Given the description of an element on the screen output the (x, y) to click on. 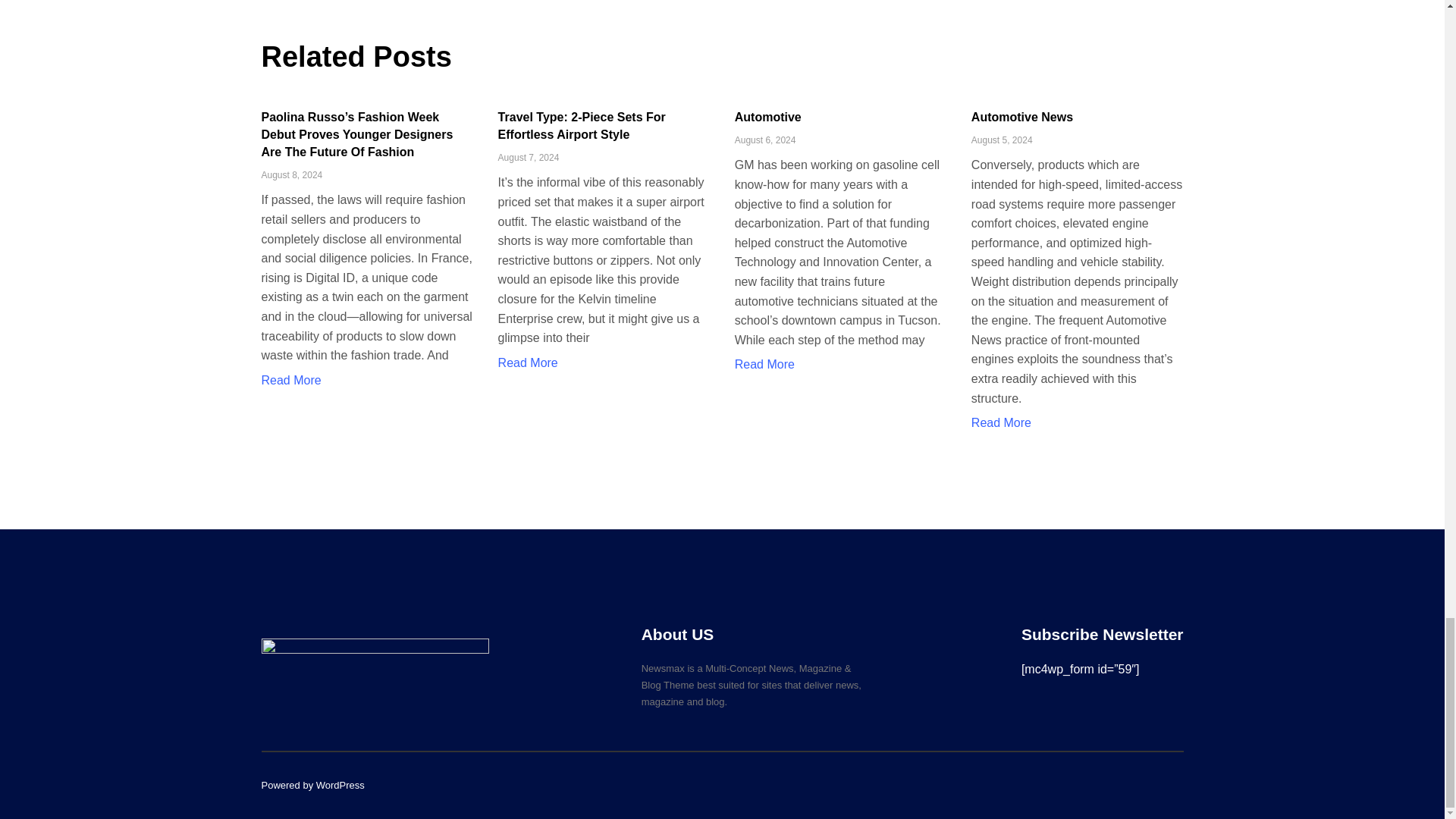
Read More (764, 364)
Automotive News (1022, 116)
Read More (527, 362)
Travel Type: 2-Piece Sets For Effortless Airport Style (581, 125)
Automotive (768, 116)
Read More (290, 379)
Read More (1000, 422)
